Given the description of an element on the screen output the (x, y) to click on. 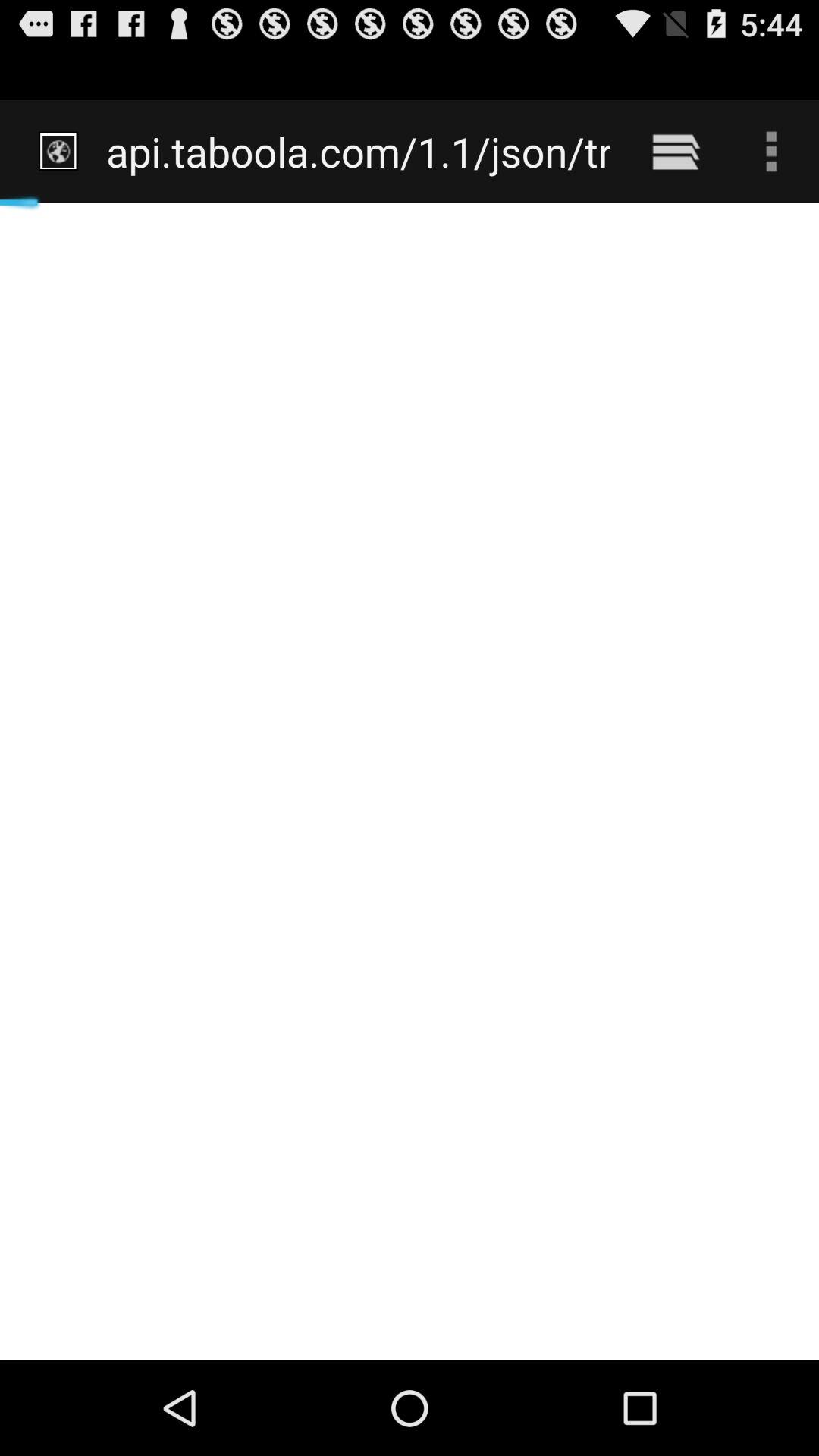
select the title of the page (346, 127)
